Given the description of an element on the screen output the (x, y) to click on. 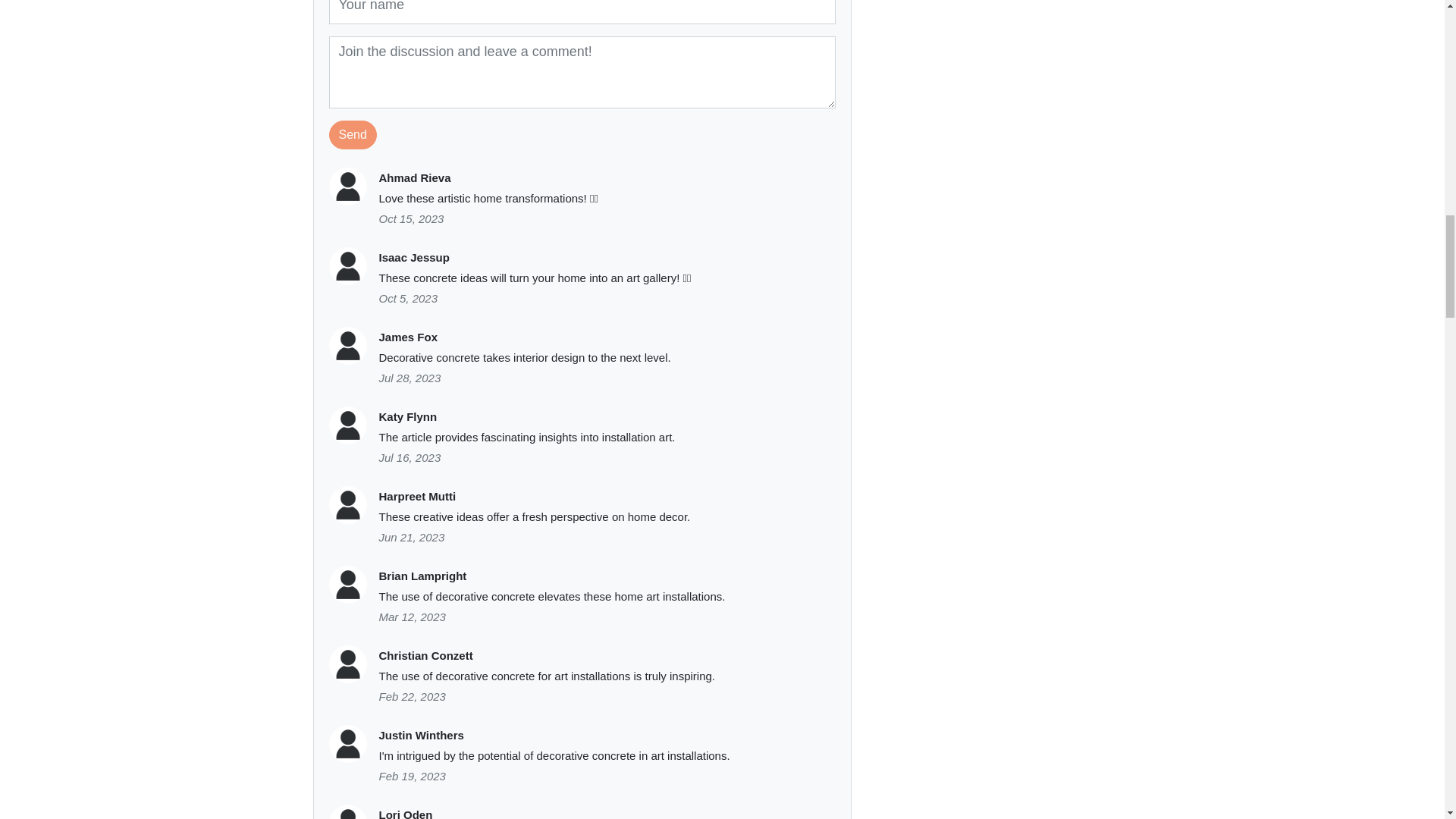
Send (353, 134)
Send (353, 134)
